Given the description of an element on the screen output the (x, y) to click on. 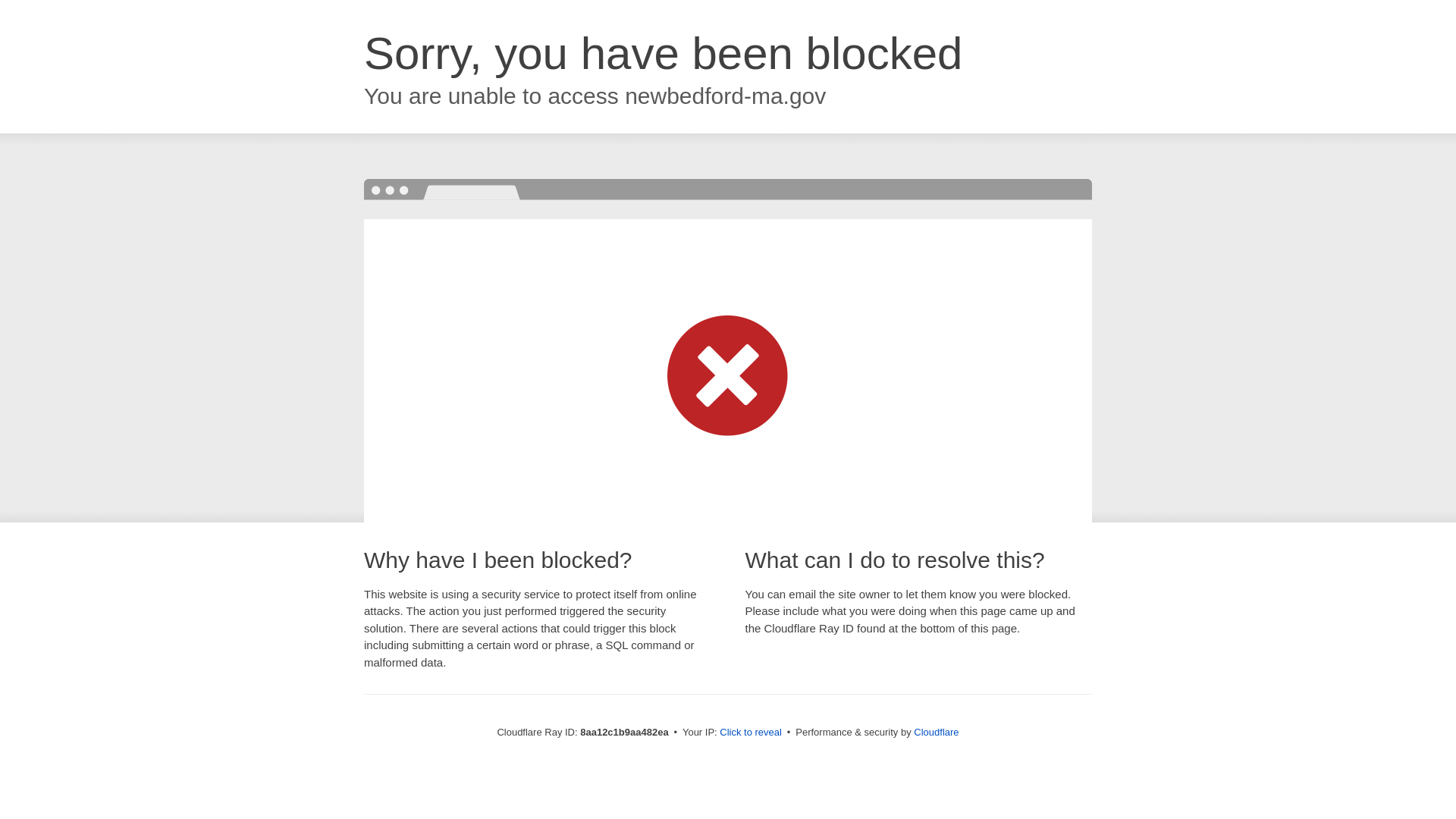
Click to reveal (750, 732)
Cloudflare (936, 731)
